Given the description of an element on the screen output the (x, y) to click on. 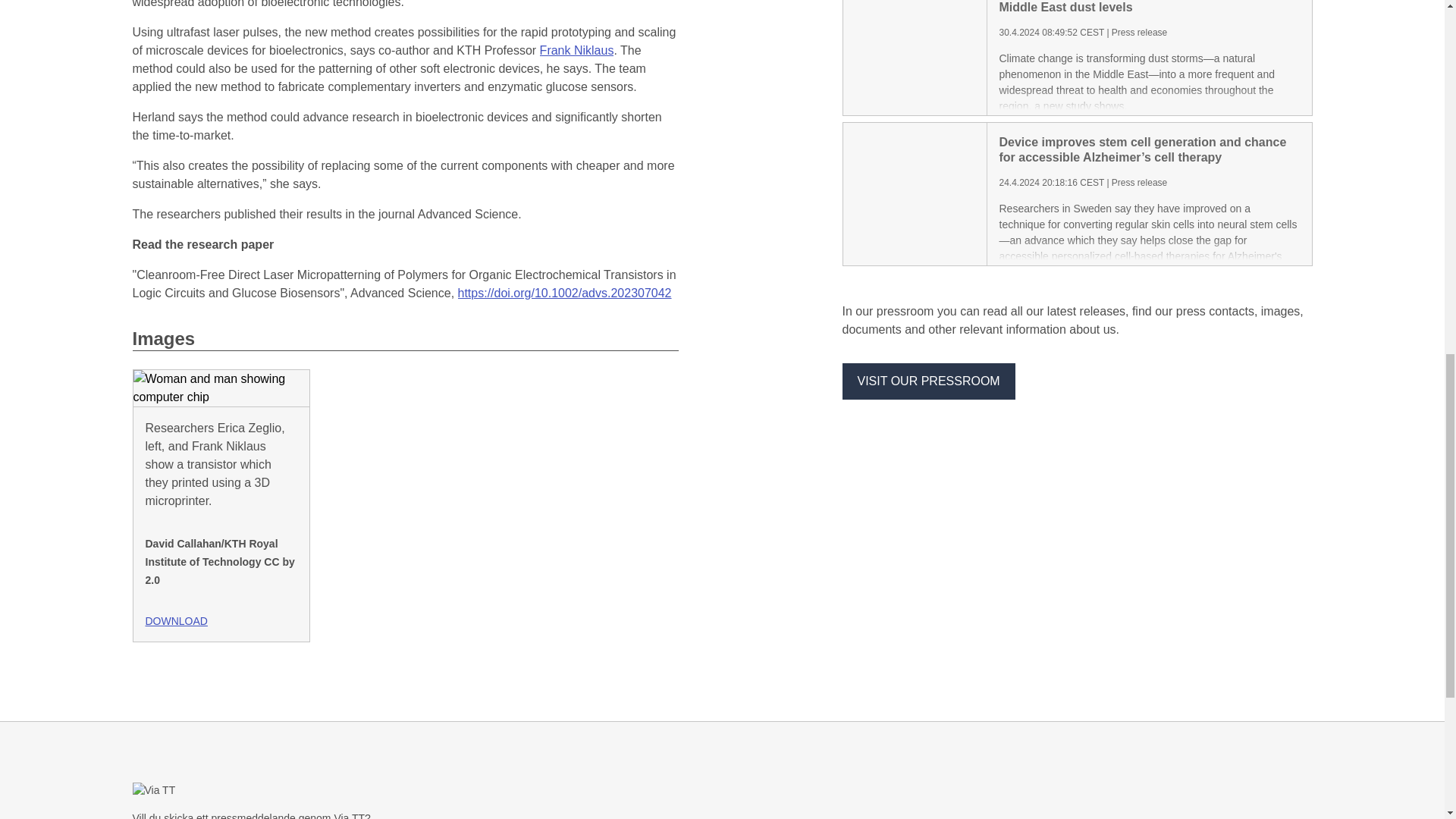
DOWNLOAD (227, 615)
Frank Niklaus (577, 50)
VISIT OUR PRESSROOM (927, 381)
